Given the description of an element on the screen output the (x, y) to click on. 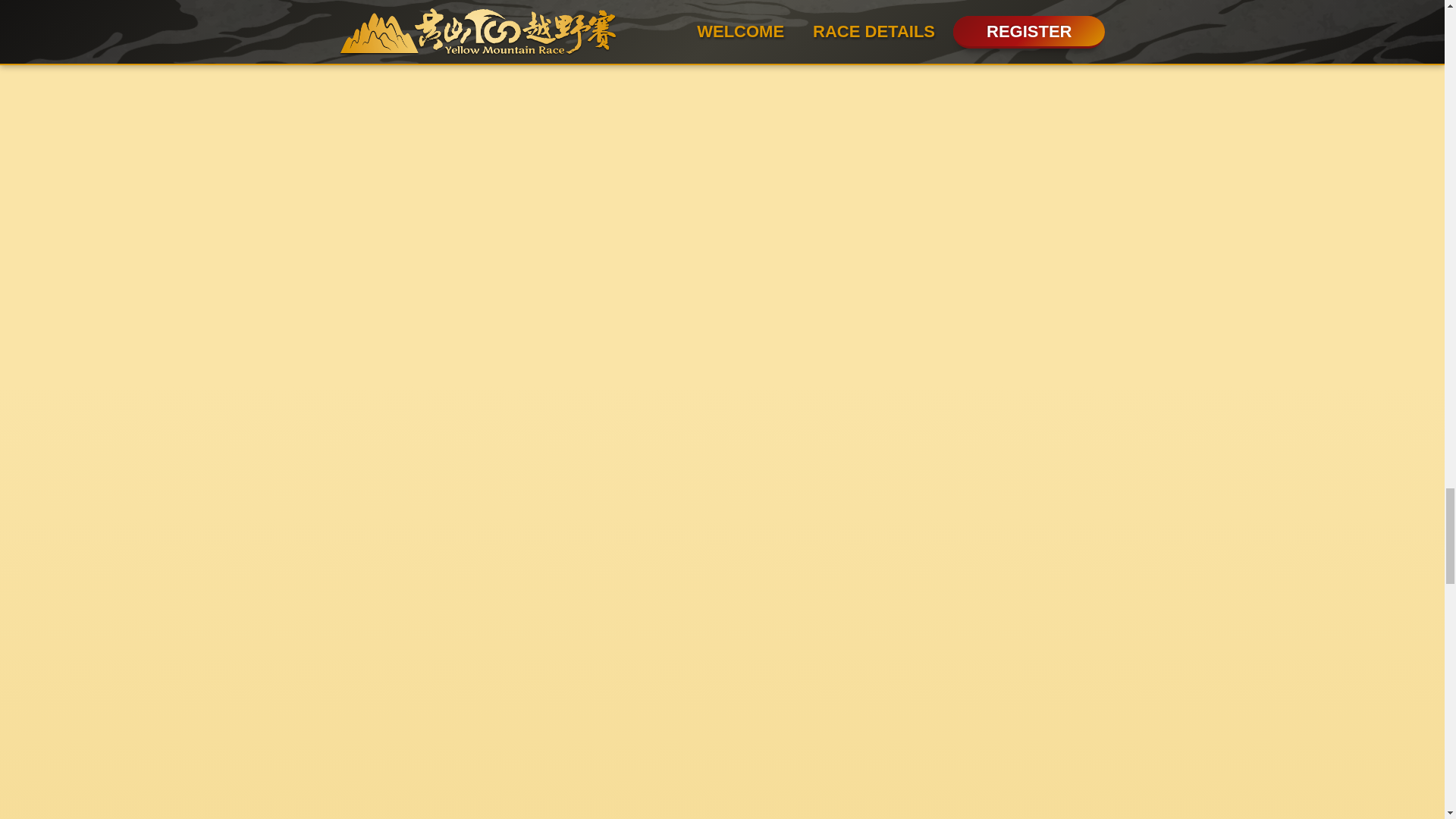
Yellow Mountain Race (197, 43)
Yellow Mountain Race (547, 54)
Yellow Mountain Race (197, 399)
Yellow Mountain Race (197, 603)
Yellow Mountain Race (197, 196)
Yellow Mountain Race (197, 765)
